Given the description of an element on the screen output the (x, y) to click on. 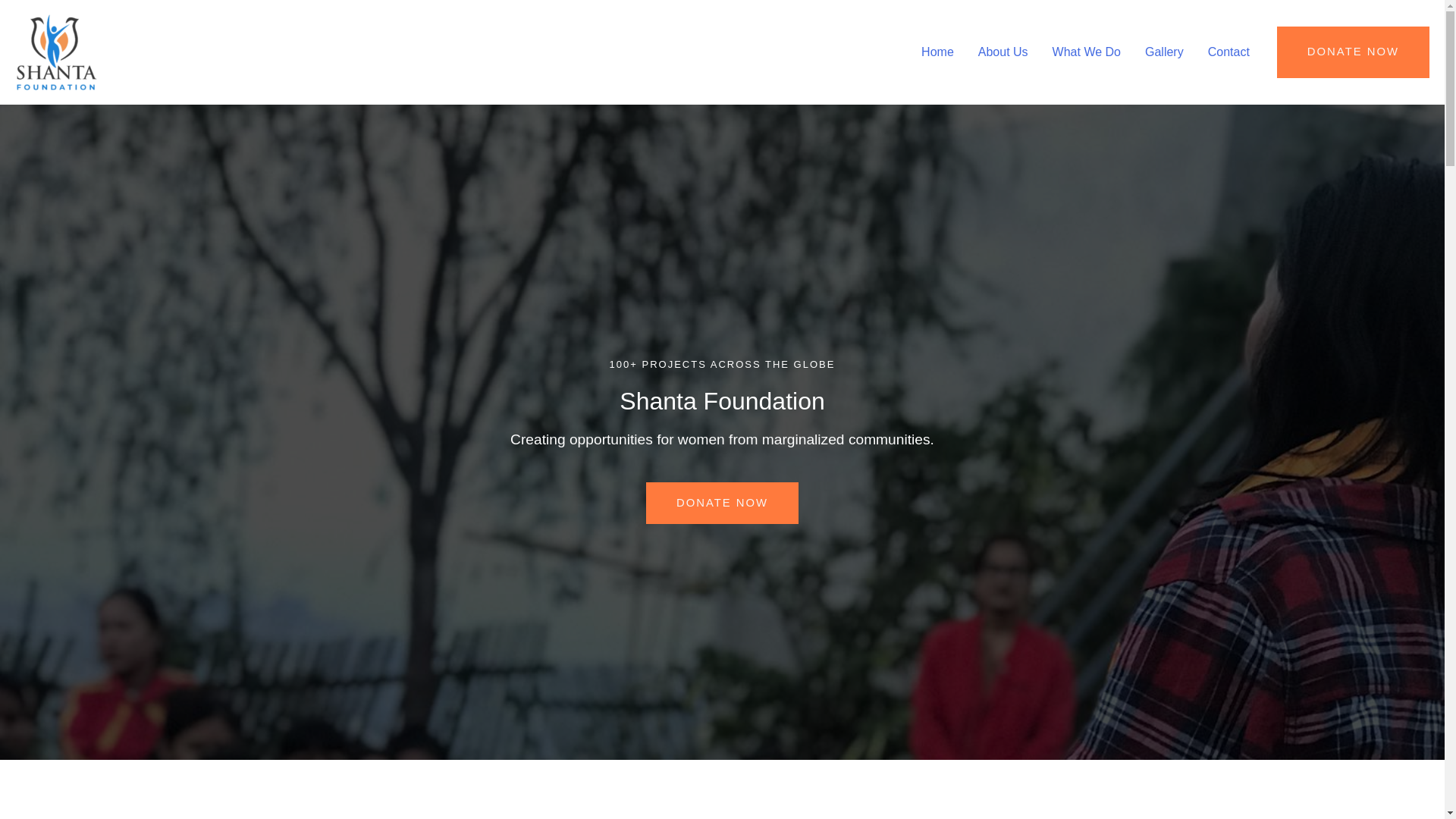
Contact (1228, 51)
DONATE NOW (1352, 51)
DONATE NOW (721, 503)
About Us (1003, 51)
Home (937, 51)
What We Do (1086, 51)
Gallery (1163, 51)
